Given the description of an element on the screen output the (x, y) to click on. 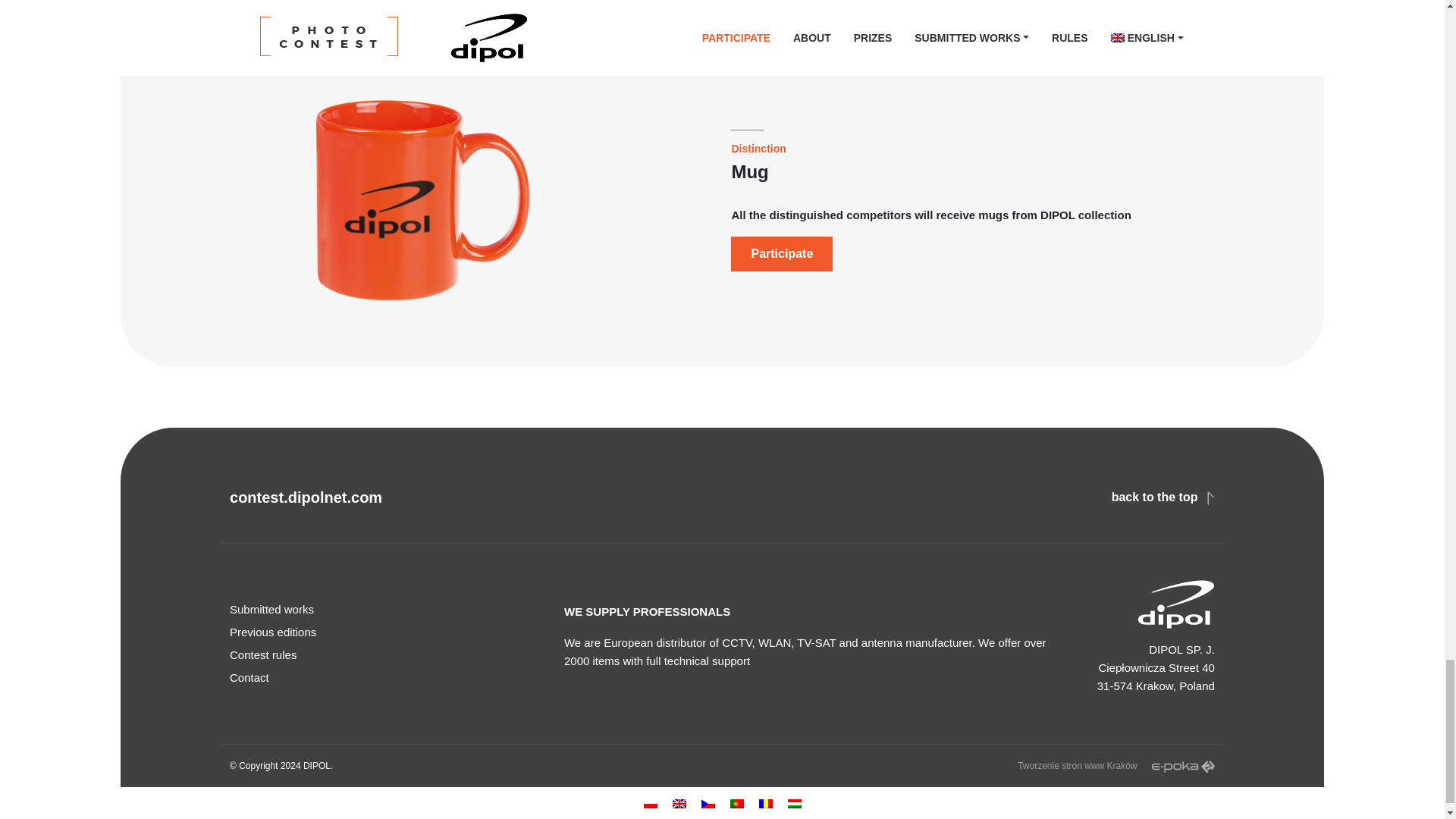
back to the top (1163, 496)
Previous editions (388, 631)
Participate (781, 253)
Contact (388, 677)
DIPOL (316, 765)
TV, TV-SAT, WLAN (316, 765)
Submitted works (388, 609)
Contest rules (388, 654)
